Given the description of an element on the screen output the (x, y) to click on. 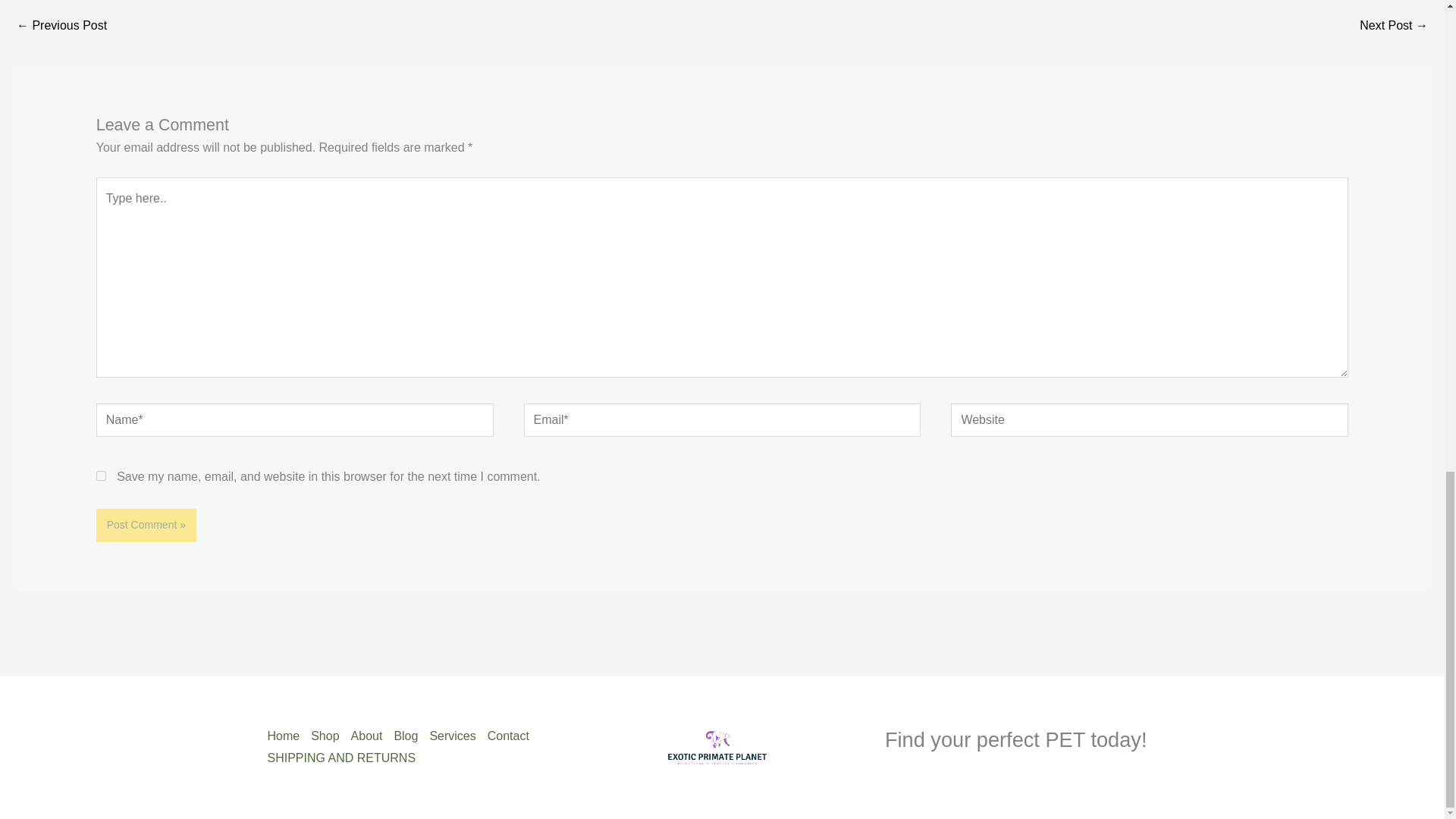
The Rising Popularity of Exotic Capuchin Monkeys as Pets (61, 26)
yes (101, 475)
The Surprising Rise in the Sales of Exotic Capuchin Monkeys (1393, 26)
